Given the description of an element on the screen output the (x, y) to click on. 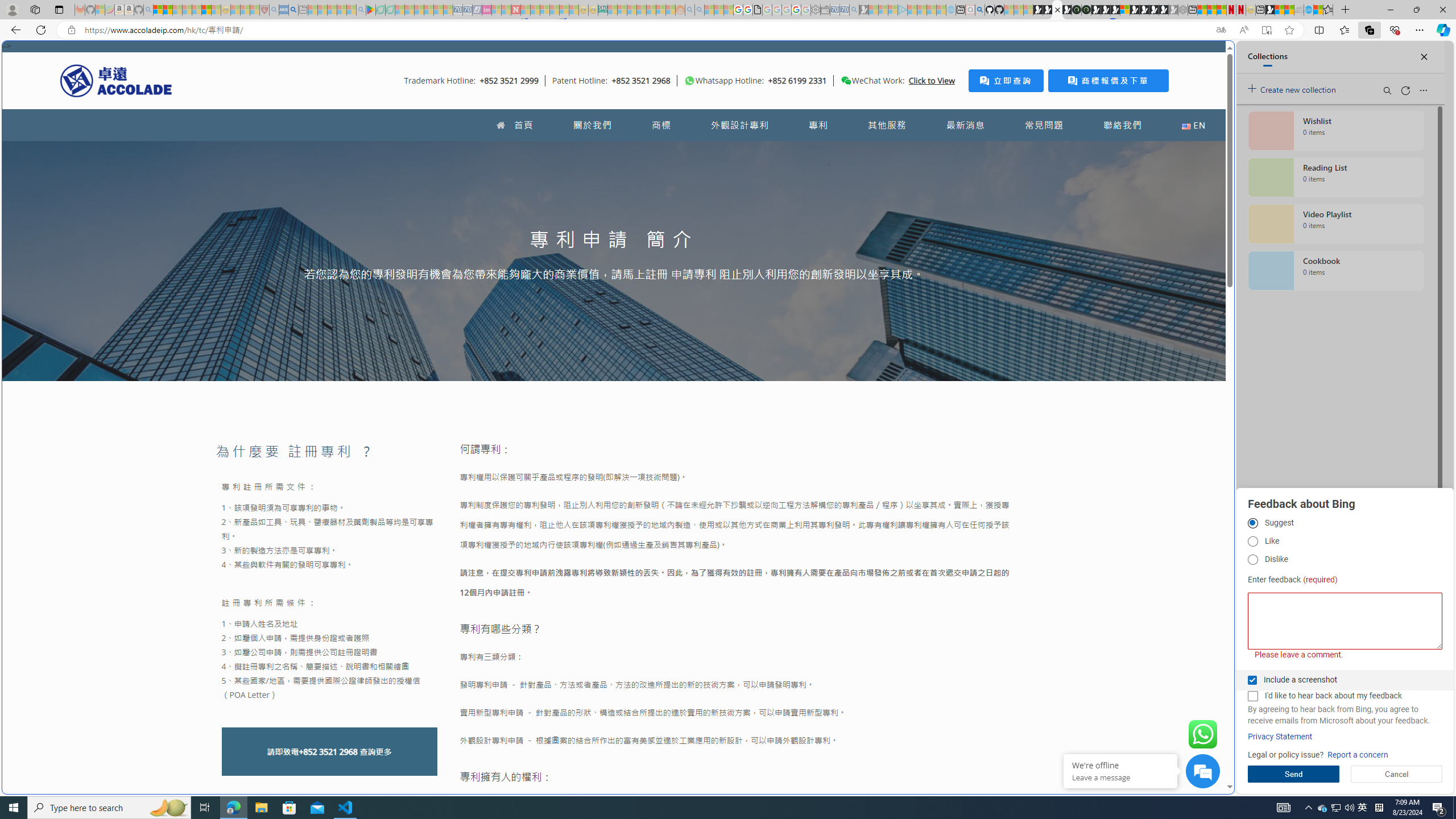
Report a concern (1358, 755)
utah sues federal government - Search (922, 389)
+852 3521 2968 (328, 751)
